Given the description of an element on the screen output the (x, y) to click on. 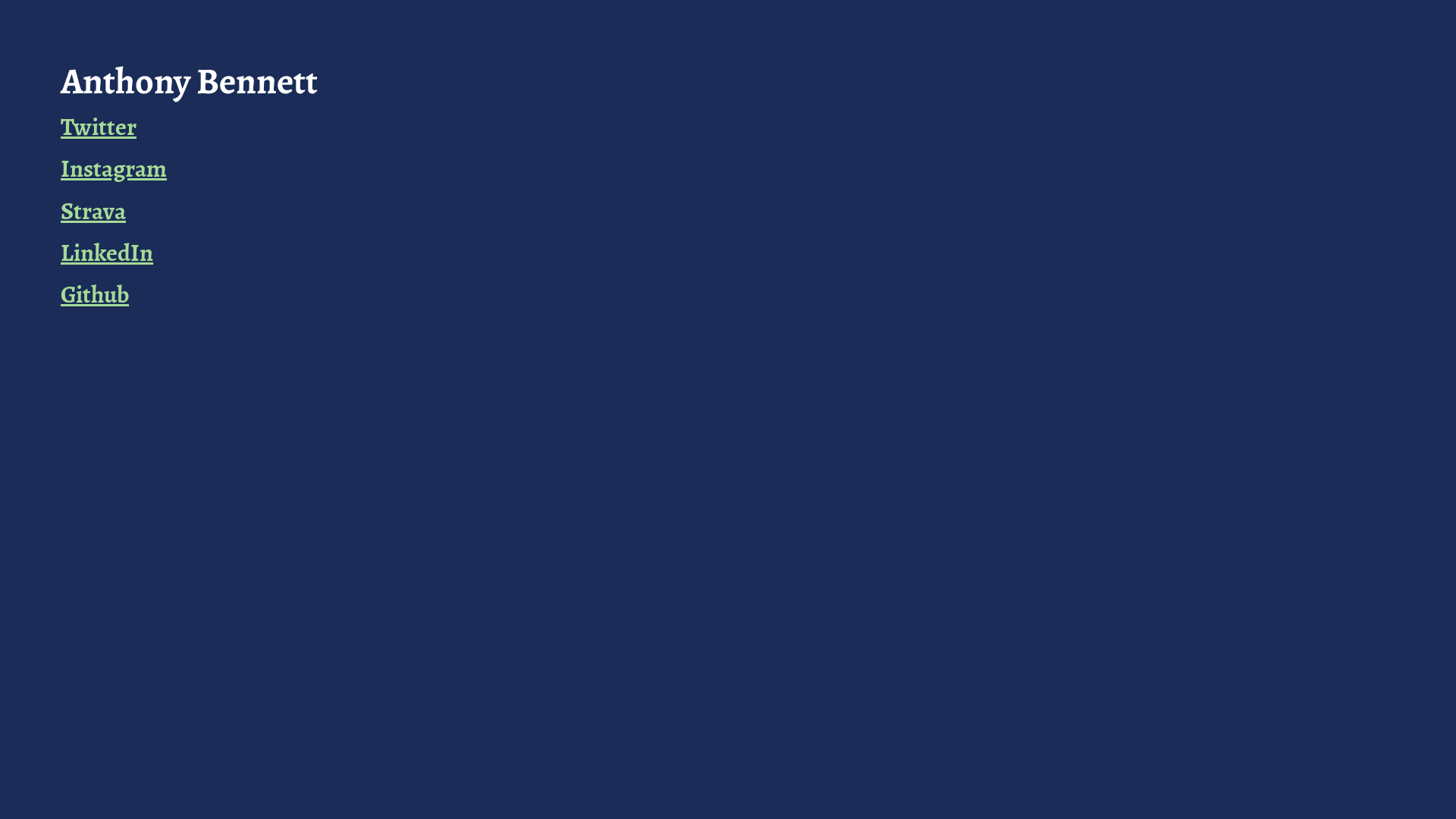
Twitter Element type: text (98, 126)
LinkedIn Element type: text (106, 252)
Github Element type: text (94, 293)
Instagram Element type: text (113, 168)
Strava Element type: text (92, 210)
